Given the description of an element on the screen output the (x, y) to click on. 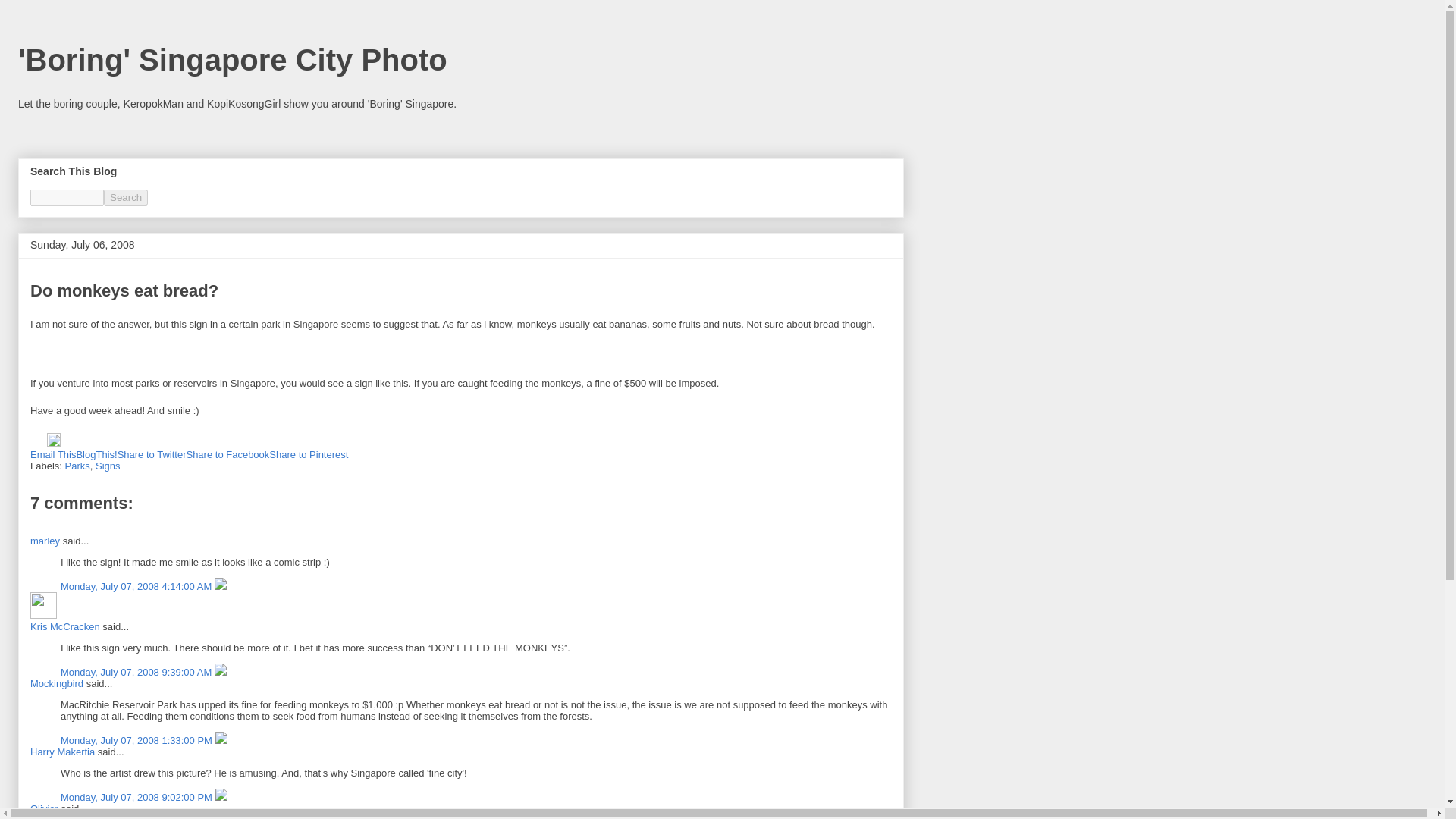
comment permalink (137, 672)
Kris McCracken (65, 626)
Delete Comment (220, 672)
Mockingbird (56, 683)
BlogThis! (95, 454)
Share to Facebook (227, 454)
Monday, July 07, 2008 4:14:00 AM (137, 586)
marley (44, 541)
comment permalink (137, 586)
Share to Facebook (227, 454)
search (125, 197)
Share to Twitter (151, 454)
Share to Pinterest (308, 454)
'Boring' Singapore City Photo (231, 59)
Search (125, 197)
